Given the description of an element on the screen output the (x, y) to click on. 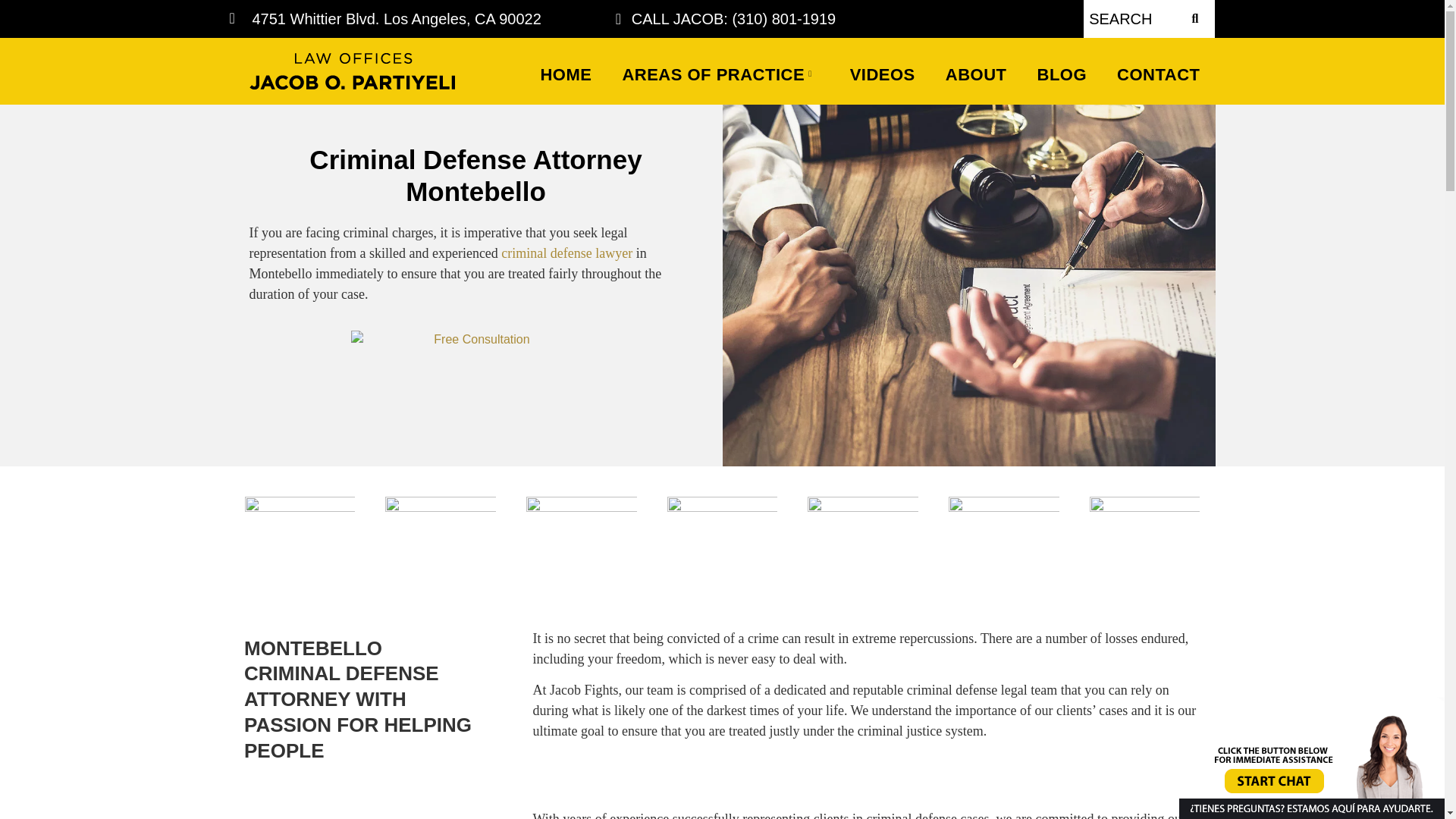
Search (1128, 18)
VIDEOS (882, 74)
AREAS OF PRACTICE (720, 74)
HOME (565, 74)
BLOG (1062, 74)
ABOUT (976, 74)
4751 Whittier Blvd. Los Angeles, CA 90022 (392, 18)
CONTACT (1158, 74)
